Given the description of an element on the screen output the (x, y) to click on. 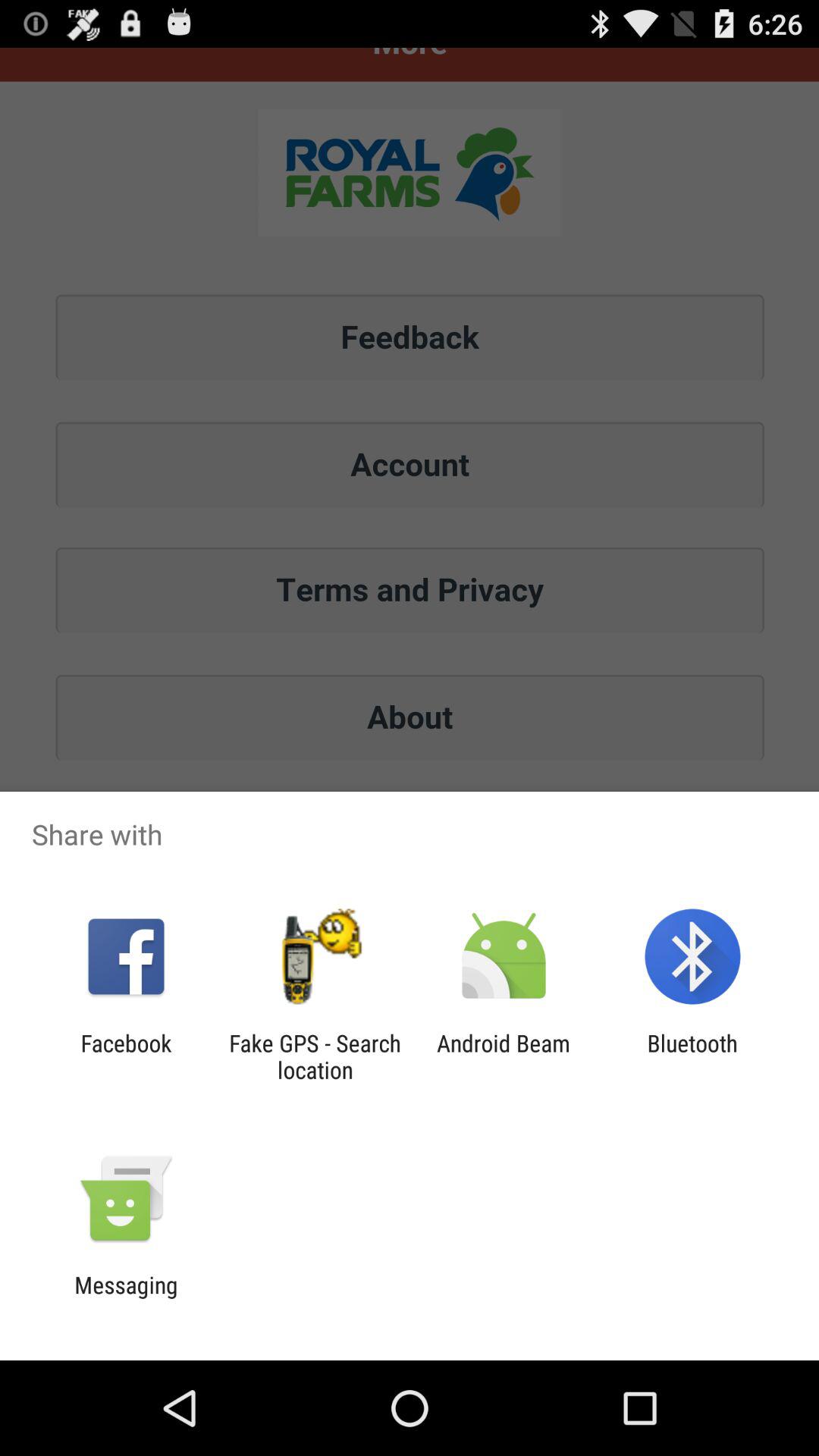
flip until the messaging item (126, 1298)
